Given the description of an element on the screen output the (x, y) to click on. 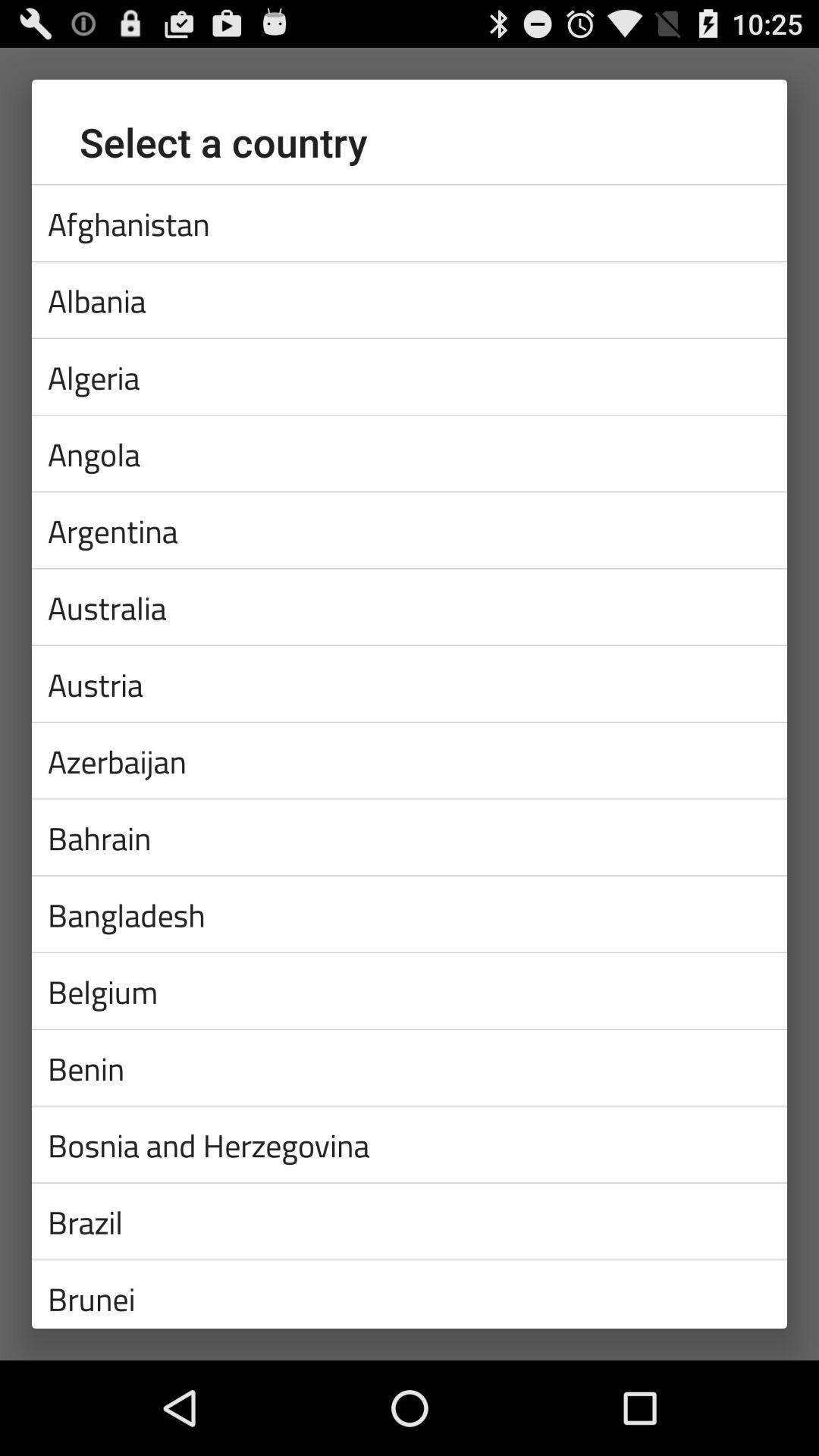
flip until azerbaijan item (409, 760)
